Given the description of an element on the screen output the (x, y) to click on. 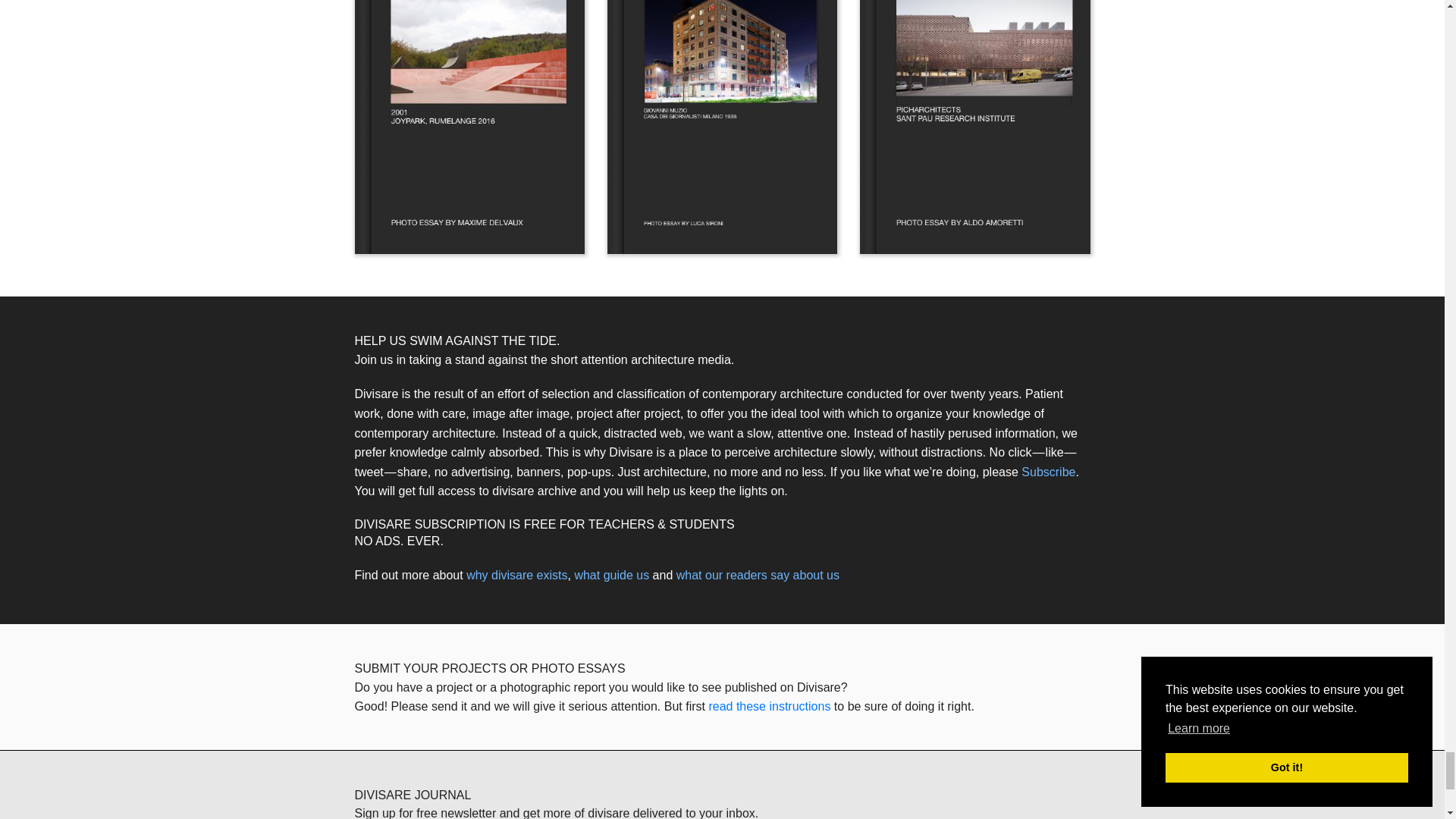
2001. JOYPARK. RUMELANGE PHOTO ESSAY BY MAXIME DELVAUX (470, 126)
